Given the description of an element on the screen output the (x, y) to click on. 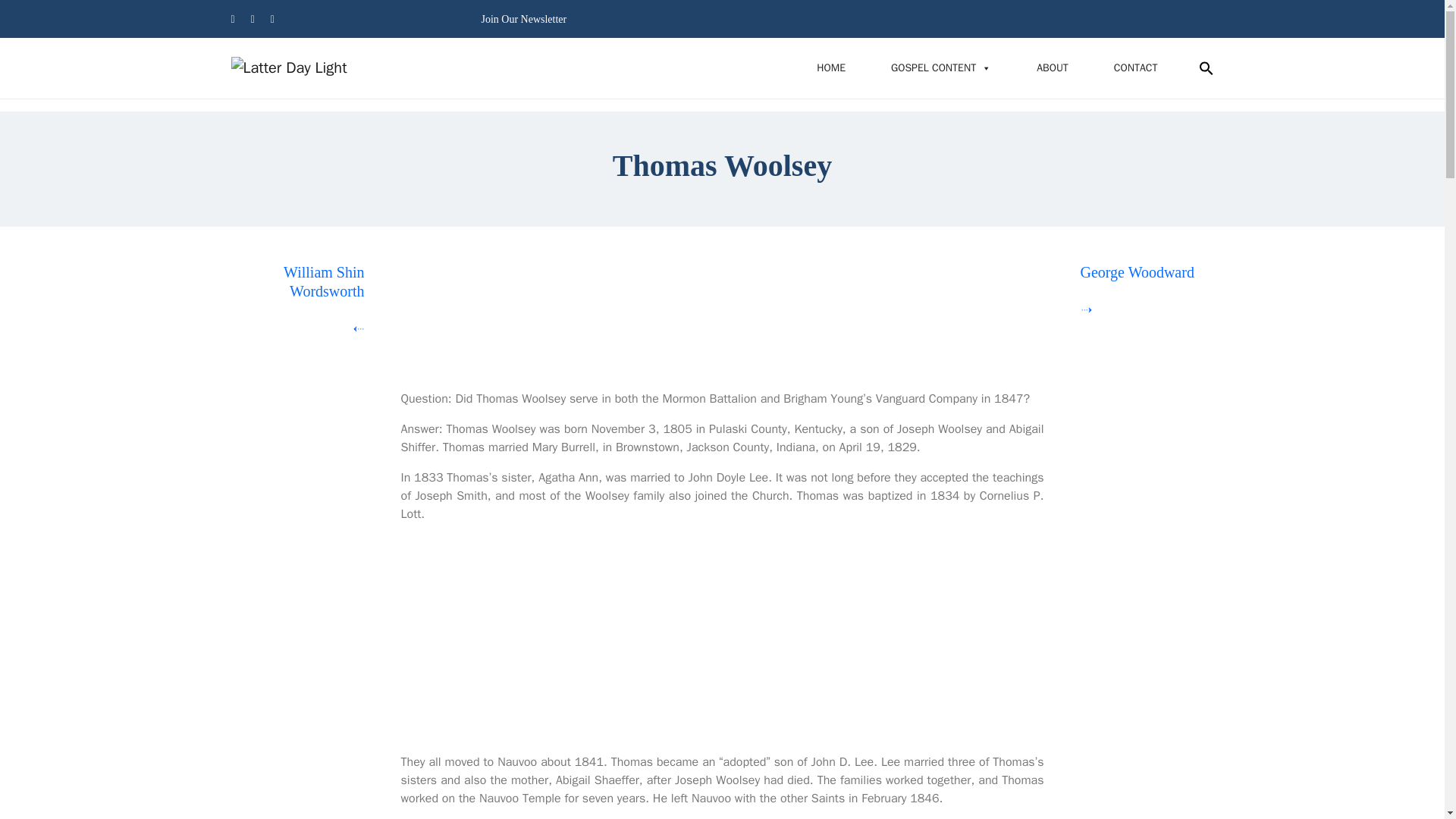
GOSPEL CONTENT (940, 67)
ABOUT (1051, 67)
Latter Day Light (288, 68)
William Shin Wordsworth (323, 281)
HOME (830, 67)
George Woodward (1136, 271)
William Shin Wordsworth (323, 281)
George Woodward (1136, 271)
CONTACT (1135, 67)
